Given the description of an element on the screen output the (x, y) to click on. 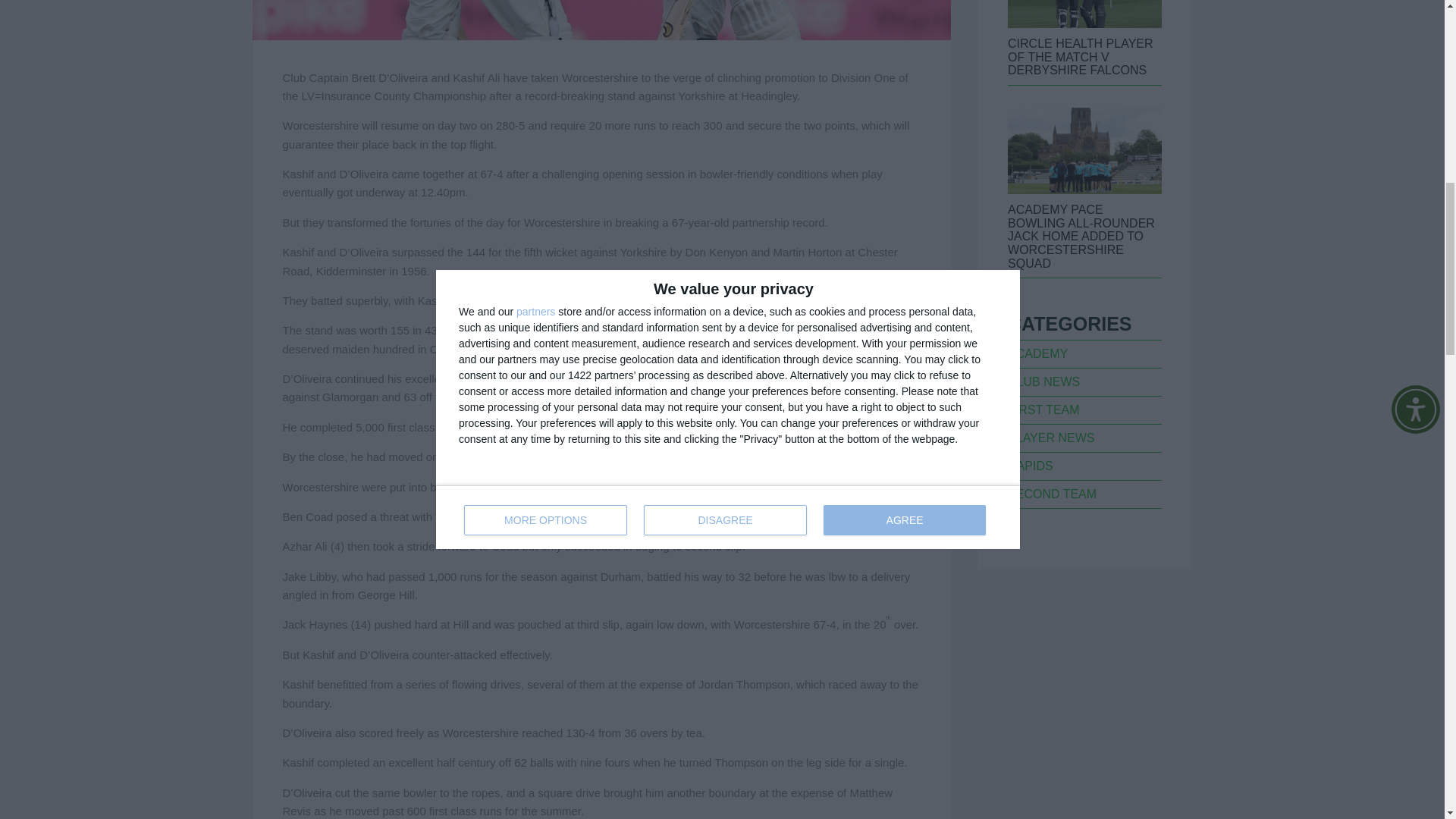
CIRCLE HEALTH PLAYER OF THE MATCH V DERBYSHIRE FALCONS (1080, 56)
